Given the description of an element on the screen output the (x, y) to click on. 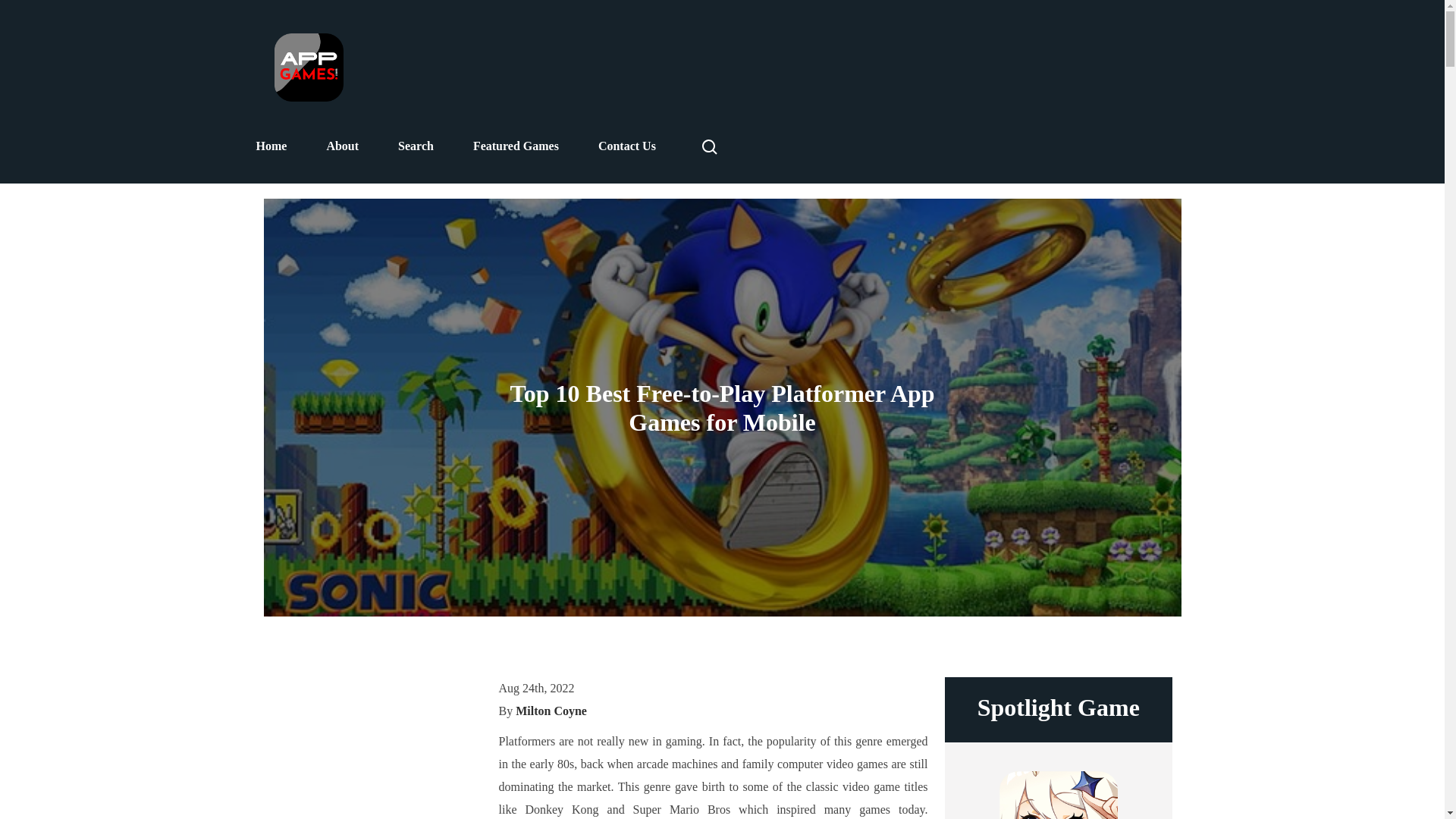
Contact Us (627, 146)
About (342, 146)
Milton Coyne (550, 710)
Search (415, 146)
Home (271, 146)
Genshin Impact 12 (1058, 795)
Featured Games (516, 146)
